Given the description of an element on the screen output the (x, y) to click on. 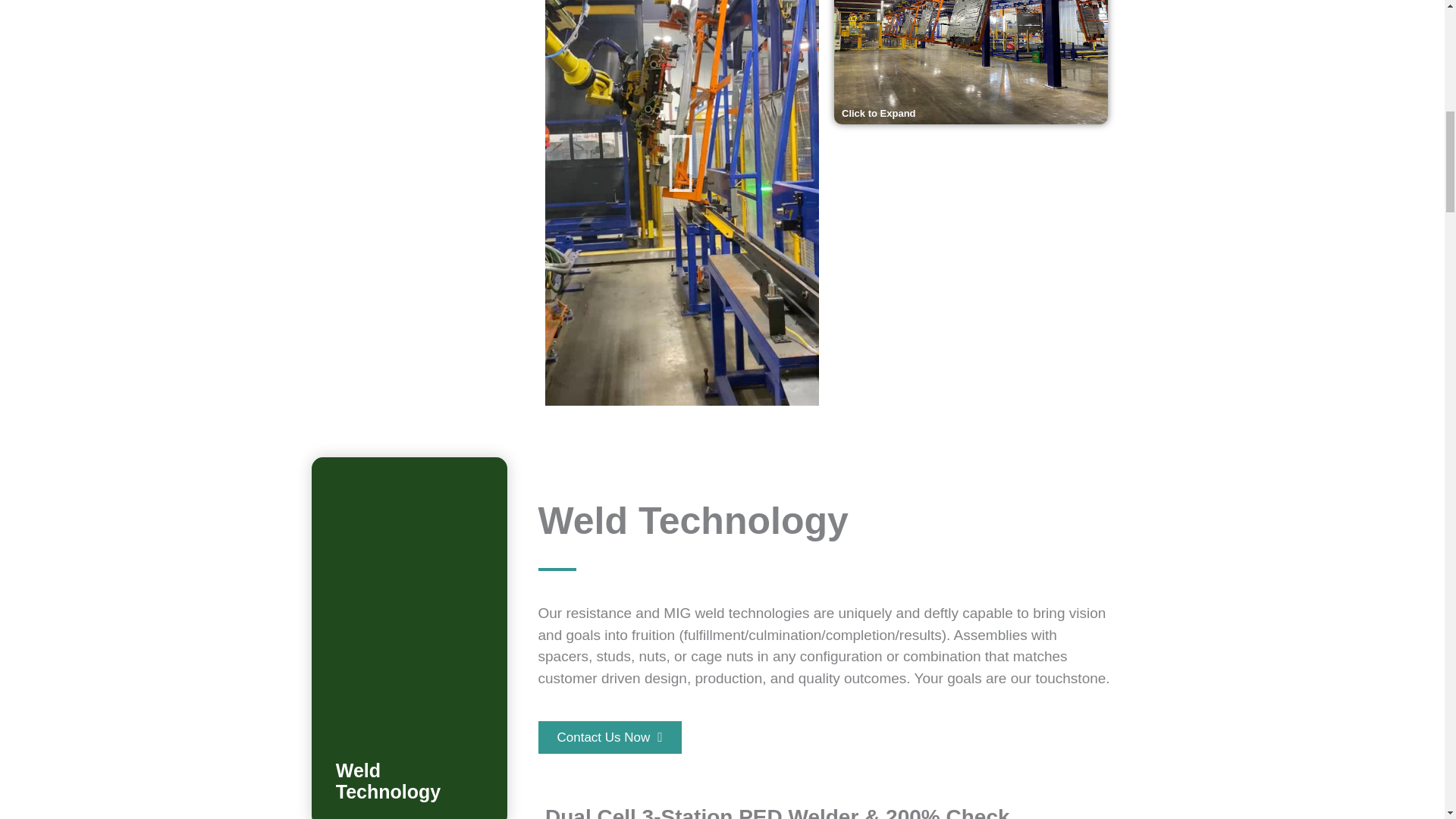
Weld Technology (388, 781)
Contact Us Now (609, 737)
